Given the description of an element on the screen output the (x, y) to click on. 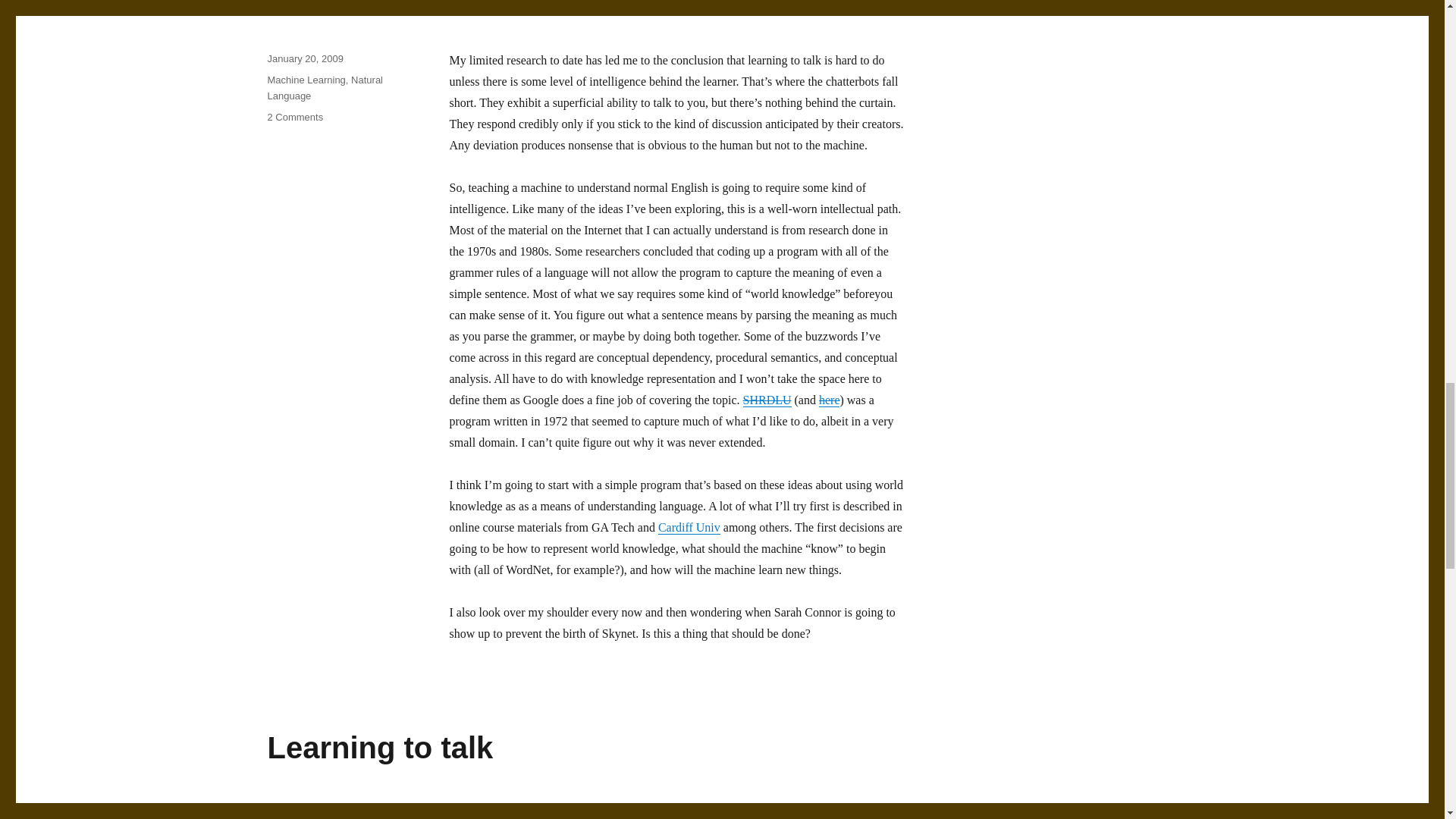
Learning to talk (379, 747)
Cardiff Univ (689, 526)
January 16, 2009 (304, 807)
Cardiff (689, 526)
SHRDLU (294, 116)
here (767, 399)
Machine Learning (829, 399)
SHRDLU (305, 79)
How to become intelligent (767, 399)
